Given the description of an element on the screen output the (x, y) to click on. 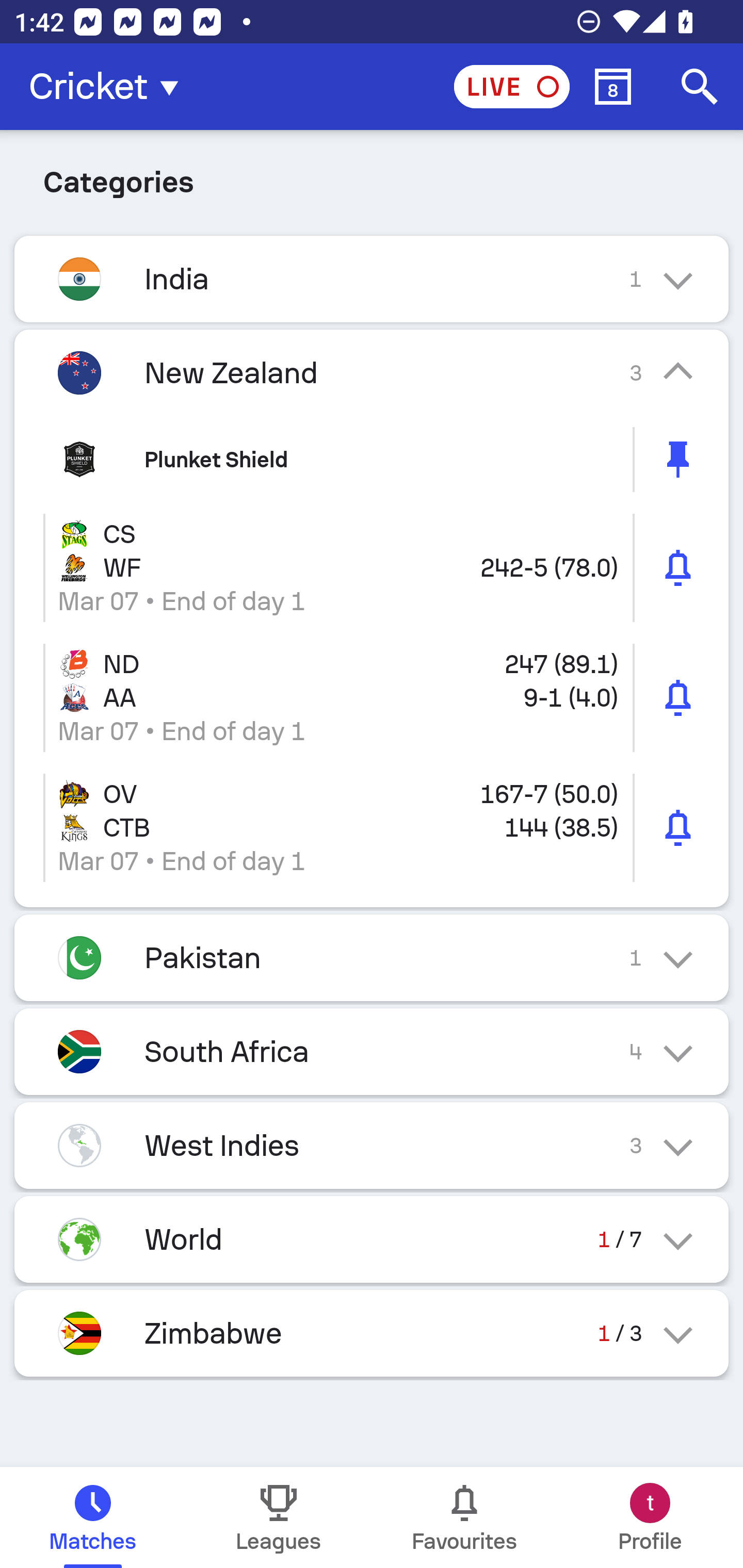
Cricket (109, 86)
Calendar (612, 86)
Search (699, 86)
Categories (371, 179)
India 1 (371, 279)
New Zealand 3 (371, 372)
Plunket Shield (371, 459)
CS WF 242-5 (78.0) Mar 07 • End of day 1 (371, 568)
ND 247 (89.1) AA 9-1 (4.0) Mar 07 • End of day 1 (371, 698)
Pakistan 1 (371, 957)
South Africa 4 (371, 1051)
West Indies 3 (371, 1145)
World 1 / 7 (371, 1239)
Zimbabwe 1 / 3 (371, 1333)
Leagues (278, 1517)
Favourites (464, 1517)
Profile (650, 1517)
